Given the description of an element on the screen output the (x, y) to click on. 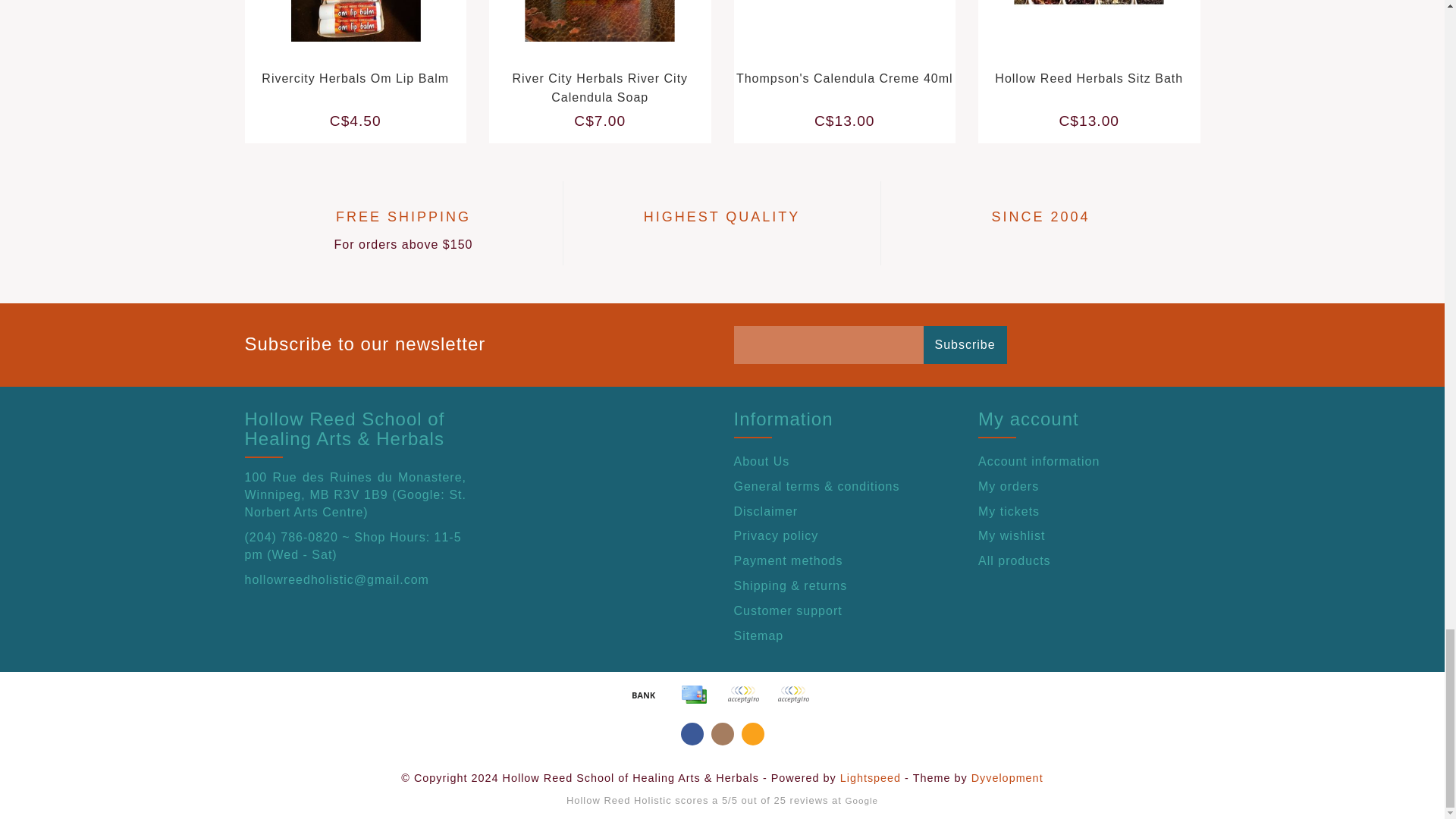
Rivercity Herbals Om Lip Balm (369, 36)
Thompson's Calendula Creme 40ml (857, 36)
Rivercity Herbals Om Lip Balm (355, 78)
River City Herbals River City Calendula Soap (612, 36)
River City Herbals River City Calendula Soap (599, 88)
